Given the description of an element on the screen output the (x, y) to click on. 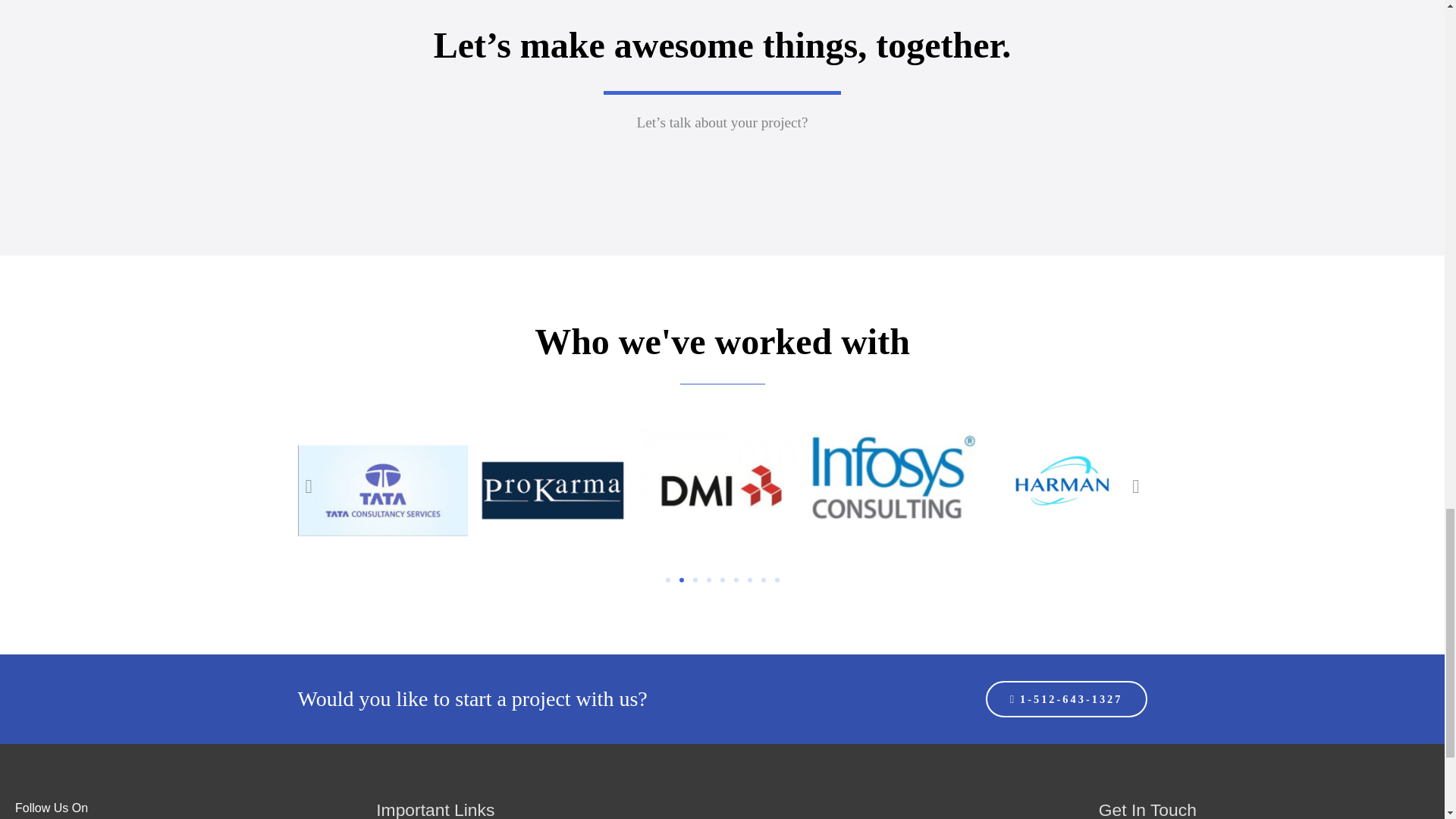
1-512-643-1327 (1066, 698)
